Given the description of an element on the screen output the (x, y) to click on. 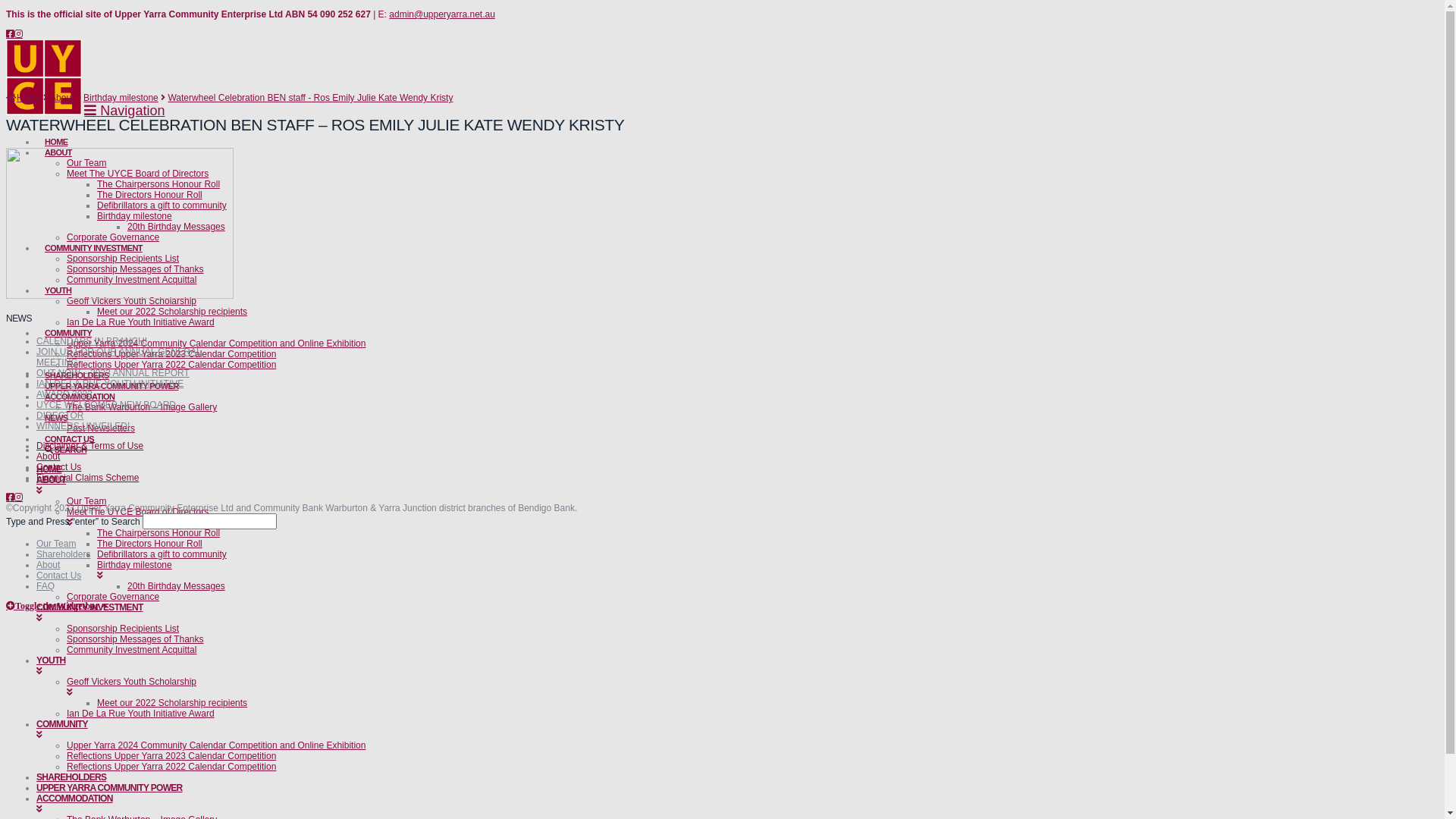
Shareholders Element type: text (63, 554)
The Directors Honour Roll Element type: text (149, 543)
CONTACT US Element type: text (69, 434)
SHAREHOLDERS Element type: text (76, 371)
Sponsorship Recipients List Element type: text (122, 258)
COMMUNITY INVESTMENT Element type: text (93, 243)
Navigation Element type: text (124, 110)
Our Team Element type: text (86, 162)
Instagram Element type: hover (18, 33)
Our Team Element type: text (55, 543)
FAQ Element type: text (45, 585)
Facebook Element type: hover (10, 497)
Reflections Upper Yarra 2022 Calendar Competition Element type: text (171, 364)
YOUTH Element type: text (57, 286)
NEWS Element type: text (55, 413)
About Element type: text (47, 456)
The Directors Honour Roll Element type: text (149, 194)
ACCOMMODATION Element type: text (476, 803)
Instagram Element type: hover (18, 497)
Reflections Upper Yarra 2023 Calendar Competition Element type: text (171, 353)
Sponsorship Recipients List Element type: text (122, 628)
Defibrillators a gift to community Element type: text (161, 205)
WINNERS UNVEILED! Element type: text (82, 425)
Contact Us Element type: text (58, 466)
CALENDARS IN BRANCH! Element type: text (91, 340)
Disclaimer & Terms of Use Element type: text (89, 445)
Our Team Element type: text (86, 500)
ABOUT Element type: text (476, 484)
COMMUNITY INVESTMENT Element type: text (476, 612)
Ian De La Rue Youth Initiative Award Element type: text (140, 321)
Financial Claims Scheme Element type: text (87, 477)
Sponsorship Messages of Thanks Element type: text (134, 638)
Geoff Vickers Youth Scholarship Element type: text (491, 686)
JOIN US FOR OUR ANNUAL GENERAL MEETING Element type: text (118, 356)
The Chairpersons Honour Roll Element type: text (158, 183)
The Chairpersons Honour Roll Element type: text (158, 532)
Back to Top Element type: hover (104, 605)
Corporate Governance Element type: text (112, 596)
SHAREHOLDERS Element type: text (71, 776)
Toggle the Widgetbar Element type: text (53, 605)
UYCE WELCOMES NEW BOARD DIRECTOR Element type: text (105, 409)
Reflections Upper Yarra 2022 Calendar Competition Element type: text (171, 766)
Reflections Upper Yarra 2023 Calendar Competition Element type: text (171, 755)
Home Element type: text (23, 97)
HOME Element type: text (55, 137)
Ian De La Rue Youth Initiative Award Element type: text (140, 713)
IAN DE LA RUE YOUTH INITIATIVE AWARD 2023 Element type: text (109, 388)
About Element type: text (47, 564)
COMMUNITY Element type: text (68, 328)
UPPER YARRA COMMUNITY POWER Element type: text (111, 381)
20th Birthday Messages Element type: text (176, 226)
admin@upperyarra.net.au Element type: text (442, 14)
HOME Element type: text (48, 469)
Meet The UYCE Board of Directors Element type: text (137, 173)
Meet The UYCE Board of Directors Element type: text (491, 516)
Meet our 2022 Scholarship recipients Element type: text (172, 311)
YOUTH Element type: text (476, 665)
COMMUNITY Element type: text (476, 729)
About Element type: text (61, 97)
UPPER YARRA COMMUNITY POWER Element type: text (109, 787)
Past Newsletters Element type: text (100, 428)
Sponsorship Messages of Thanks Element type: text (134, 268)
Birthday milestone Element type: text (134, 215)
Defibrillators a gift to community Element type: text (161, 554)
Corporate Governance Element type: text (112, 237)
Birthday milestone Element type: text (120, 97)
20th Birthday Messages Element type: text (176, 585)
ABOUT Element type: text (58, 148)
Facebook Element type: hover (10, 33)
Birthday milestone Element type: text (506, 569)
Community Investment Acquittal Element type: text (131, 649)
Community Investment Acquittal Element type: text (131, 279)
Contact Us Element type: text (58, 575)
Geoff Vickers Youth Scholarship Element type: text (131, 300)
SEARCH Element type: text (65, 445)
Meet our 2022 Scholarship recipients Element type: text (172, 702)
ACCOMMODATION Element type: text (79, 392)
